Given the description of an element on the screen output the (x, y) to click on. 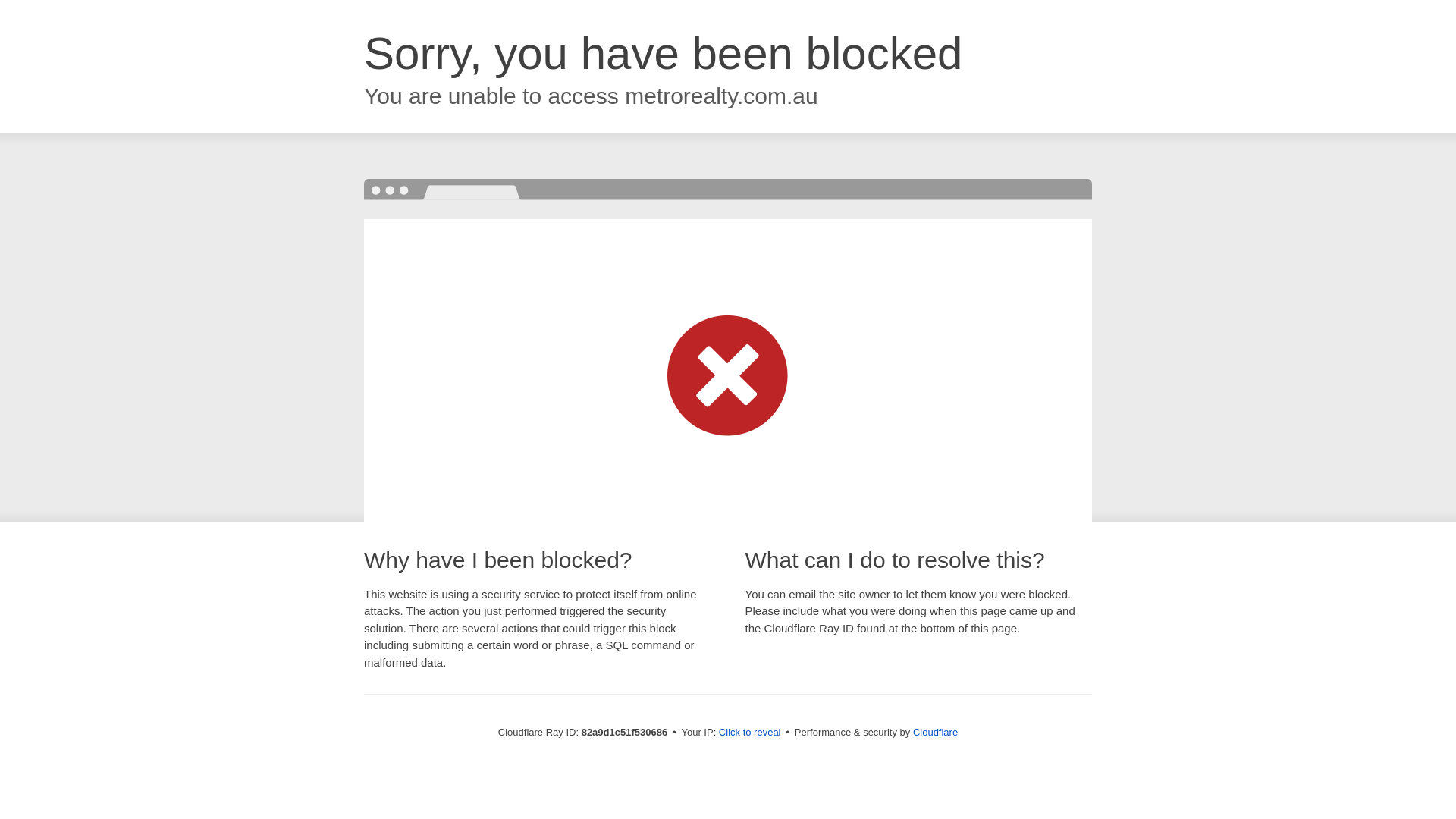
Cloudflare Element type: text (935, 731)
Click to reveal Element type: text (749, 732)
